Given the description of an element on the screen output the (x, y) to click on. 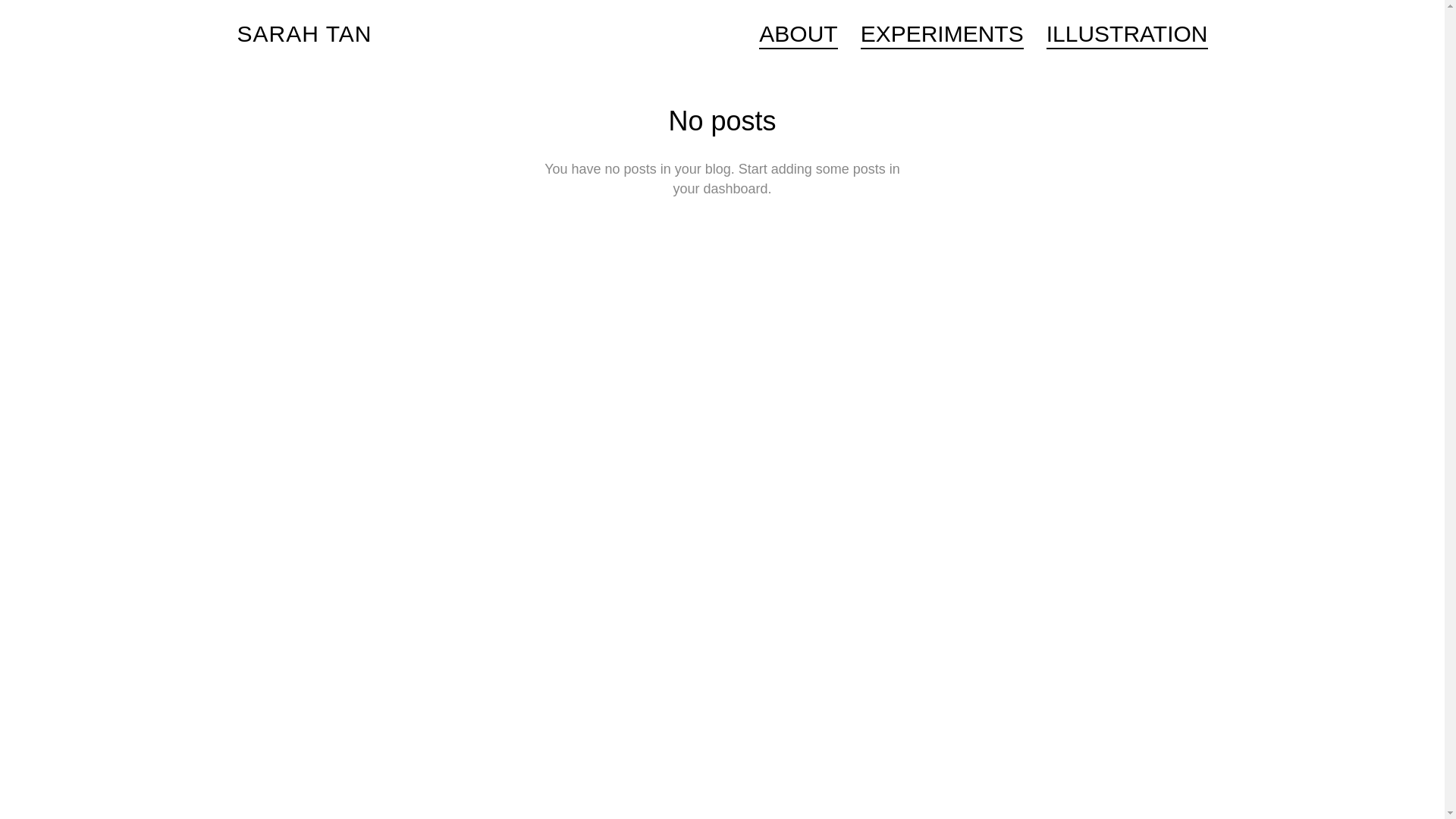
SARAH TAN Element type: text (303, 33)
ILLUSTRATION Element type: text (1121, 36)
ABOUT Element type: text (797, 36)
EXPERIMENTS Element type: text (942, 36)
